Given the description of an element on the screen output the (x, y) to click on. 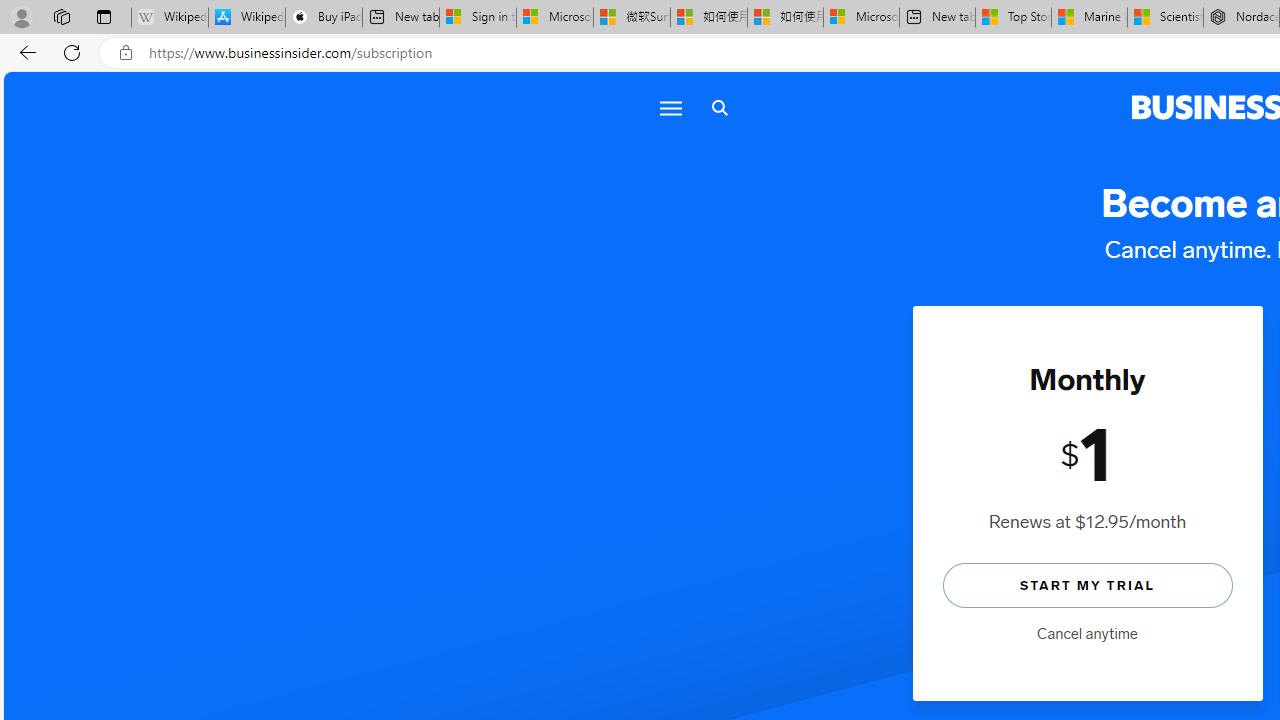
Search icon (719, 107)
Menu (669, 107)
Cancel anytime (1087, 633)
Sign in to your Microsoft account (477, 17)
Microsoft account | Account Checkup (861, 17)
